Given the description of an element on the screen output the (x, y) to click on. 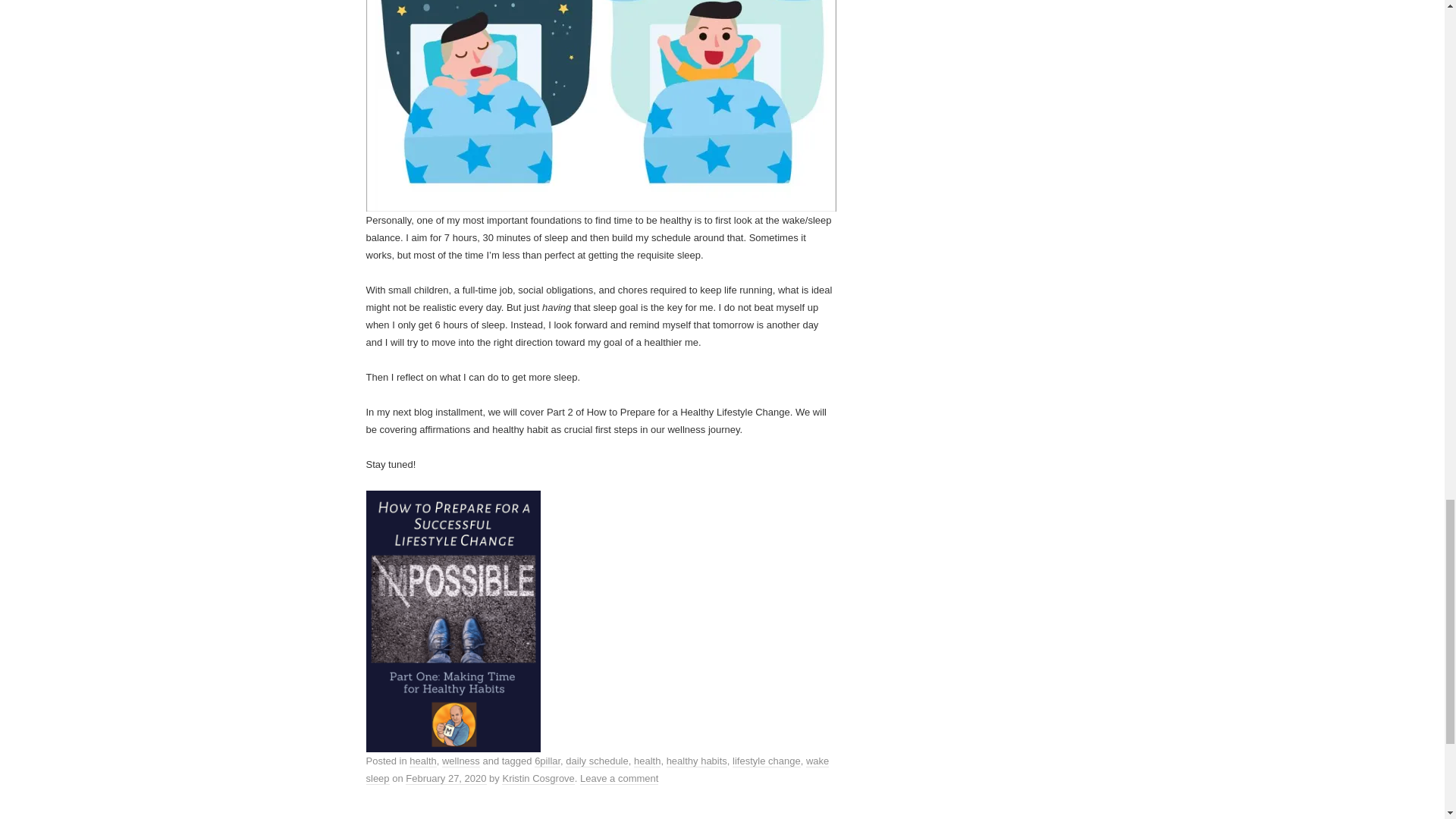
wake sleep (596, 769)
View all posts by Kristin Cosgrove (537, 778)
wellness (461, 761)
Kristin Cosgrove (537, 778)
Leave a comment (618, 778)
lifestyle change (766, 761)
10:18 am (446, 778)
6pillar (547, 761)
health (422, 761)
health (647, 761)
